Given the description of an element on the screen output the (x, y) to click on. 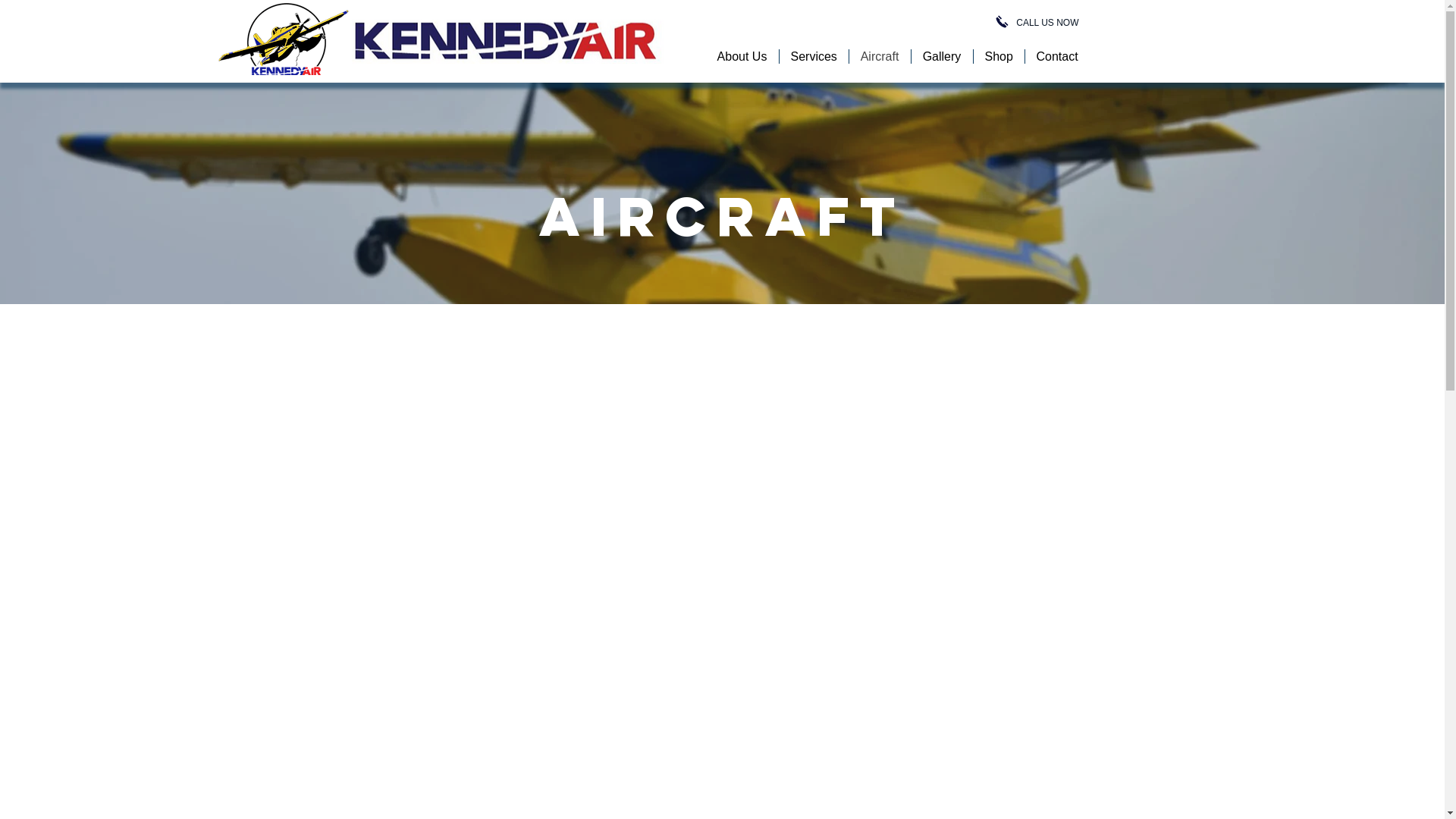
Services Element type: text (813, 56)
Aircraft Element type: text (879, 56)
Contact Element type: text (1057, 56)
Shop Element type: text (998, 56)
CALL US NOW Element type: text (1047, 22)
About Us Element type: text (741, 56)
Gallery Element type: text (941, 56)
